Given the description of an element on the screen output the (x, y) to click on. 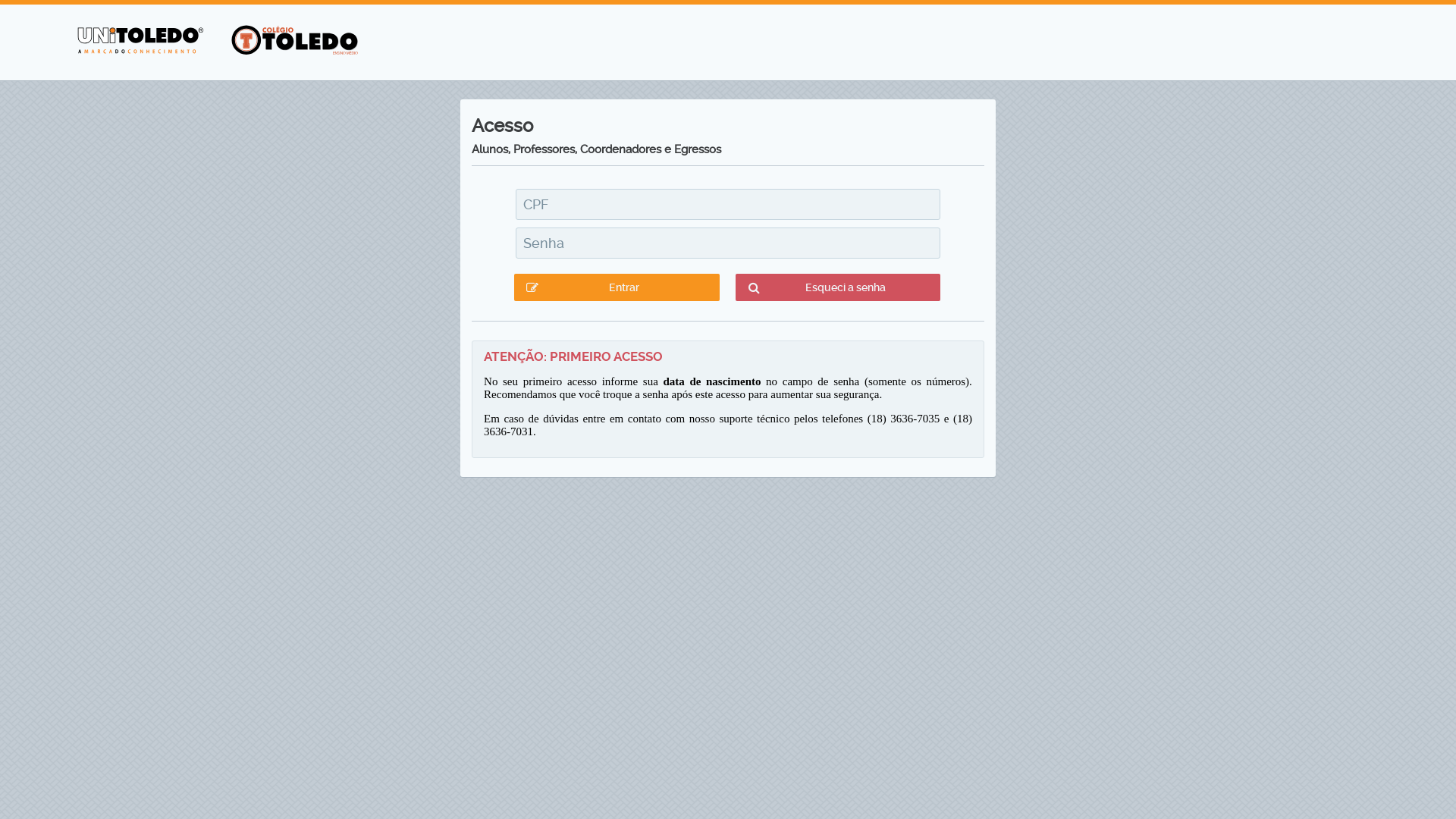
Entrar Element type: text (616, 287)
Esqueci a senha Element type: text (837, 287)
